Given the description of an element on the screen output the (x, y) to click on. 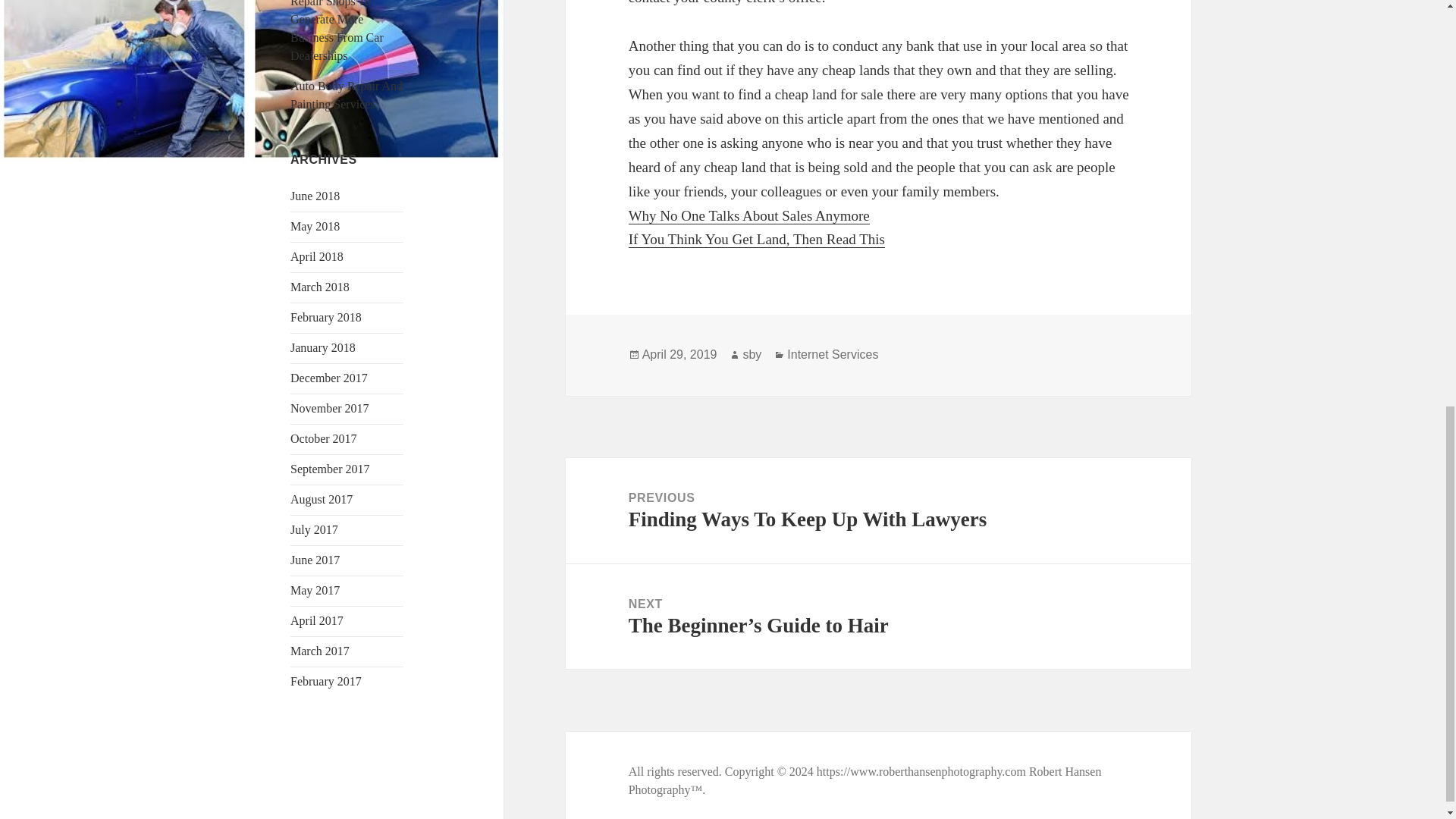
April 2018 (316, 256)
March 2018 (319, 286)
May 2017 (314, 590)
July 2017 (313, 529)
April 2017 (316, 620)
March 2017 (319, 650)
April 29, 2019 (679, 354)
August 2017 (320, 499)
February 2018 (325, 317)
September 2017 (329, 468)
June 2018 (314, 195)
December 2017 (328, 377)
If You Think You Get Land, Then Read This (756, 239)
Robert Hansen Photography (865, 780)
